Given the description of an element on the screen output the (x, y) to click on. 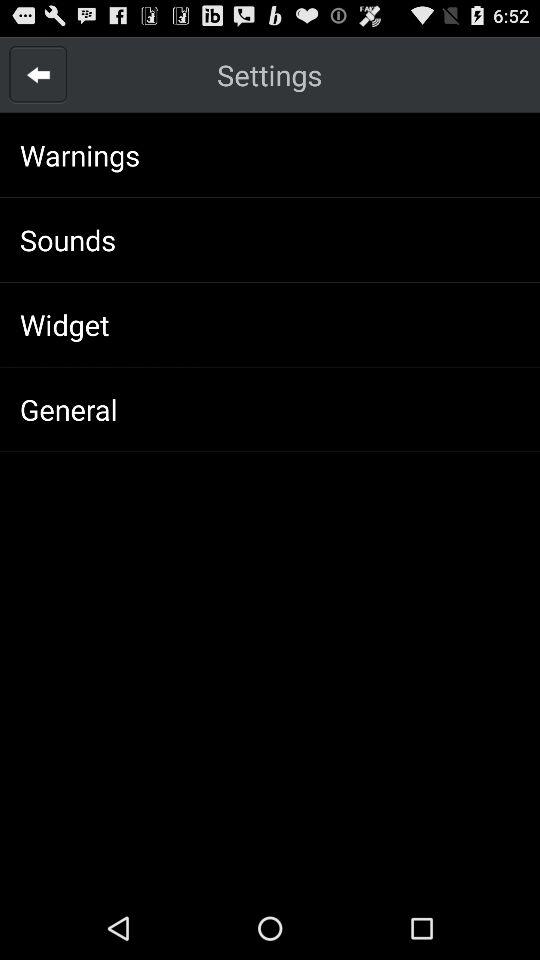
turn off icon above general app (64, 324)
